Given the description of an element on the screen output the (x, y) to click on. 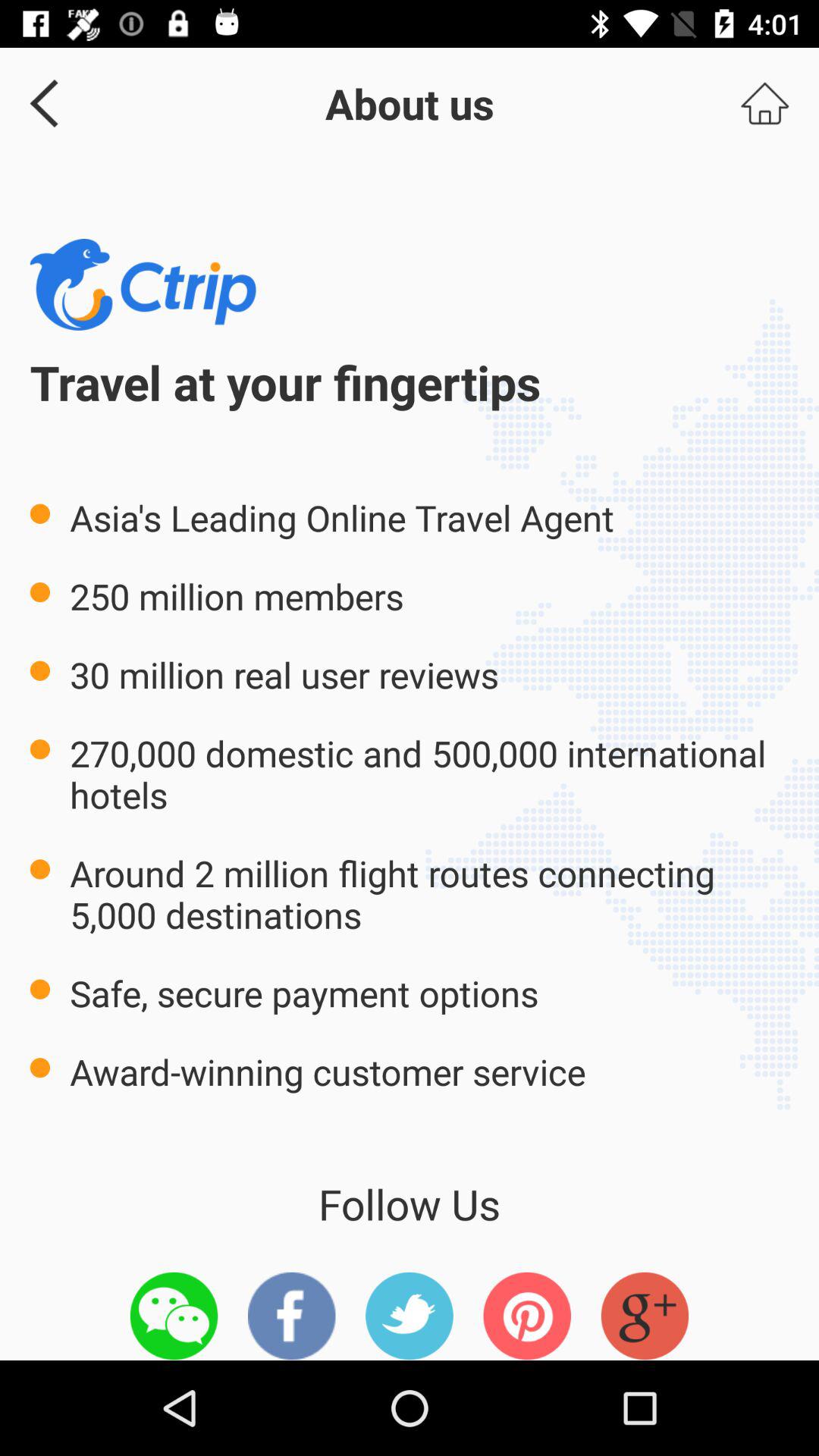
select the item below the follow us (527, 1315)
